Given the description of an element on the screen output the (x, y) to click on. 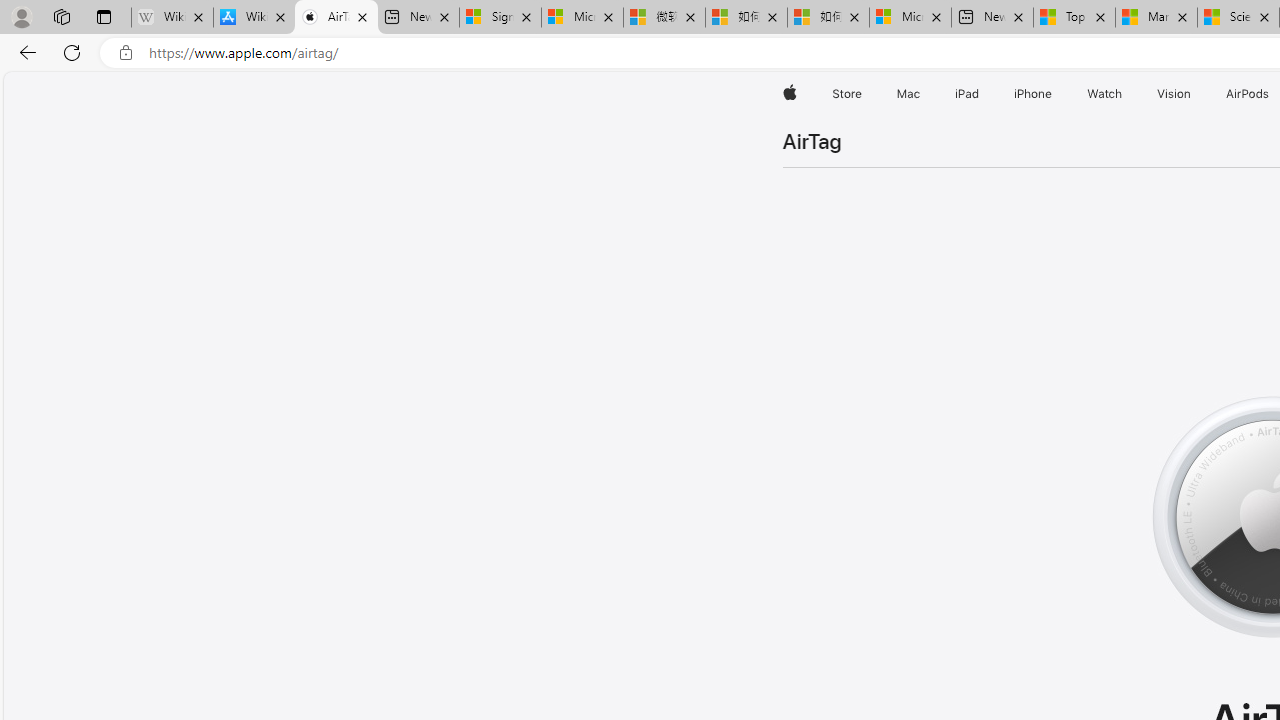
iPad (965, 93)
iPhone menu (1055, 93)
Top Stories - MSN (1074, 17)
Watch menu (1125, 93)
AirTag (812, 142)
iPad (965, 93)
Mac (908, 93)
Class: globalnav-submenu-trigger-item (1195, 93)
Vision (1174, 93)
Microsoft account | Account Checkup (910, 17)
